Given the description of an element on the screen output the (x, y) to click on. 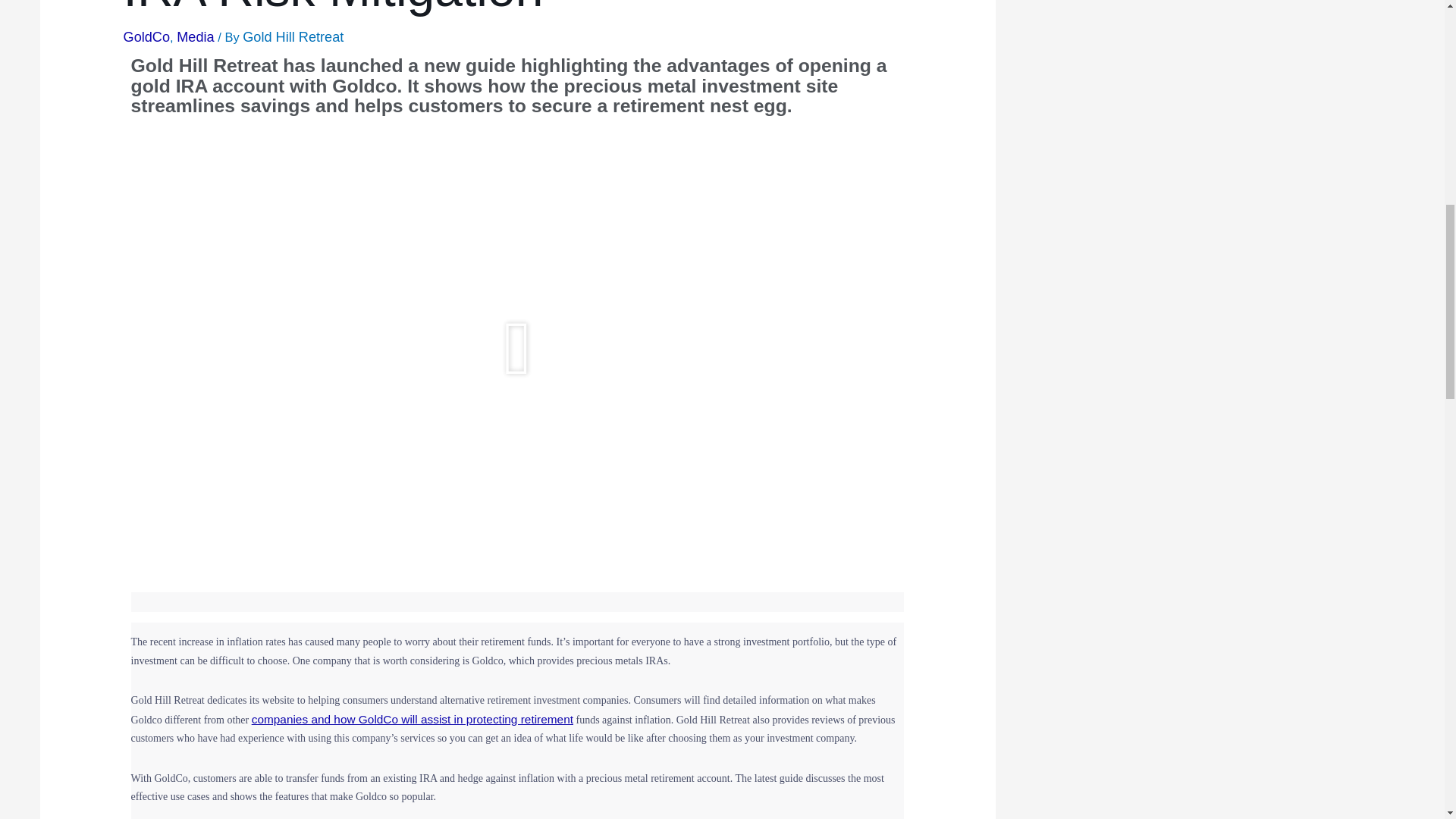
Gold Hill Retreat (293, 37)
GoldCo (146, 37)
View all posts by Gold Hill Retreat (293, 37)
Media (195, 37)
